Given the description of an element on the screen output the (x, y) to click on. 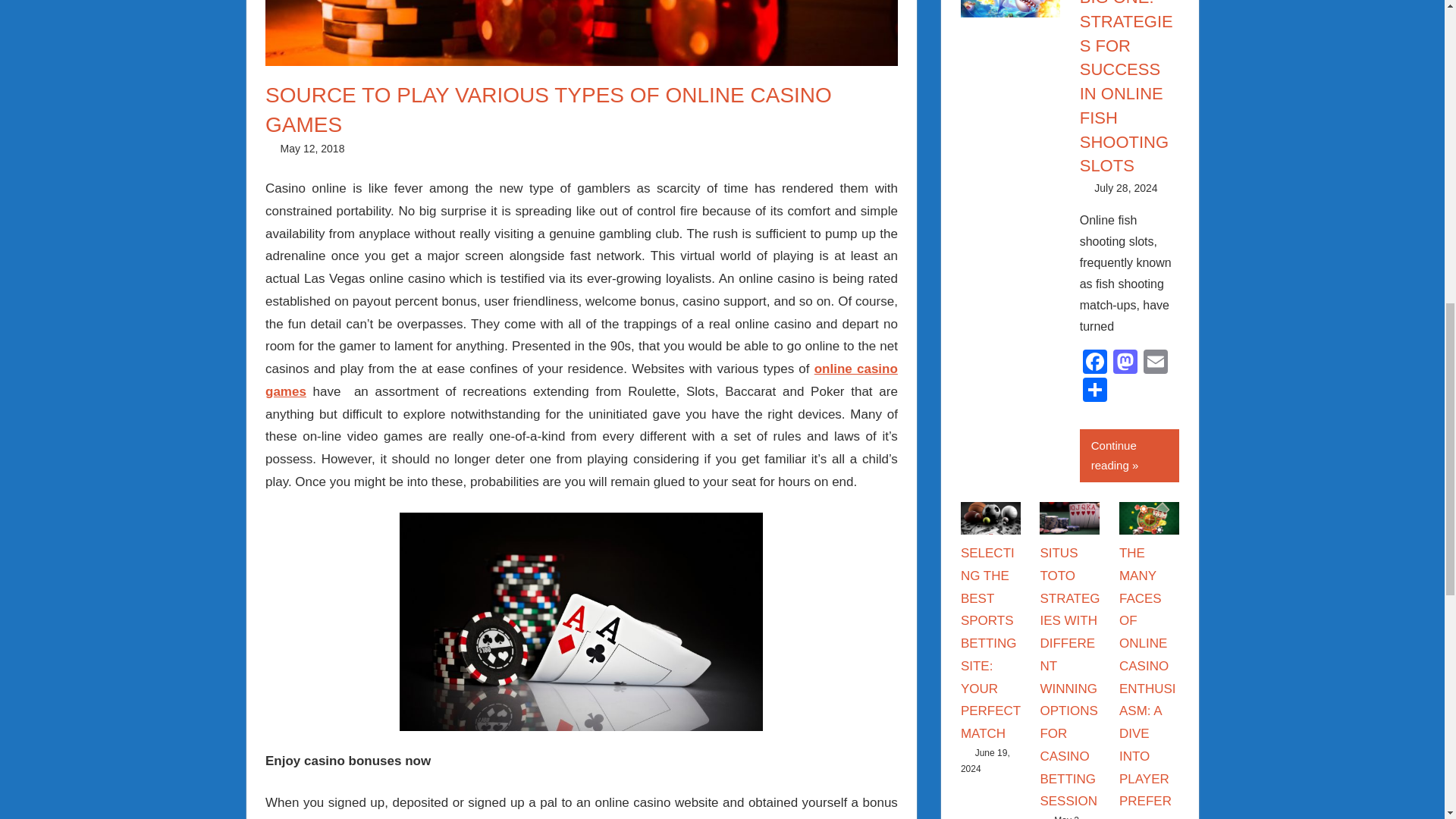
Casino Bonus (408, 148)
Facebook (1094, 363)
Continue reading (1129, 456)
Mastodon (1124, 363)
online casino games (581, 379)
Facebook (1094, 363)
Share (1094, 391)
Cassandra J. Pearson (1241, 187)
9:31 am (313, 148)
Email (1155, 363)
Cassandra J. Pearson (427, 148)
View all posts by Cassandra J. Pearson (427, 148)
View all posts by Cassandra J. Pearson (1241, 187)
May 12, 2018 (313, 148)
July 28, 2024 (1125, 187)
